Given the description of an element on the screen output the (x, y) to click on. 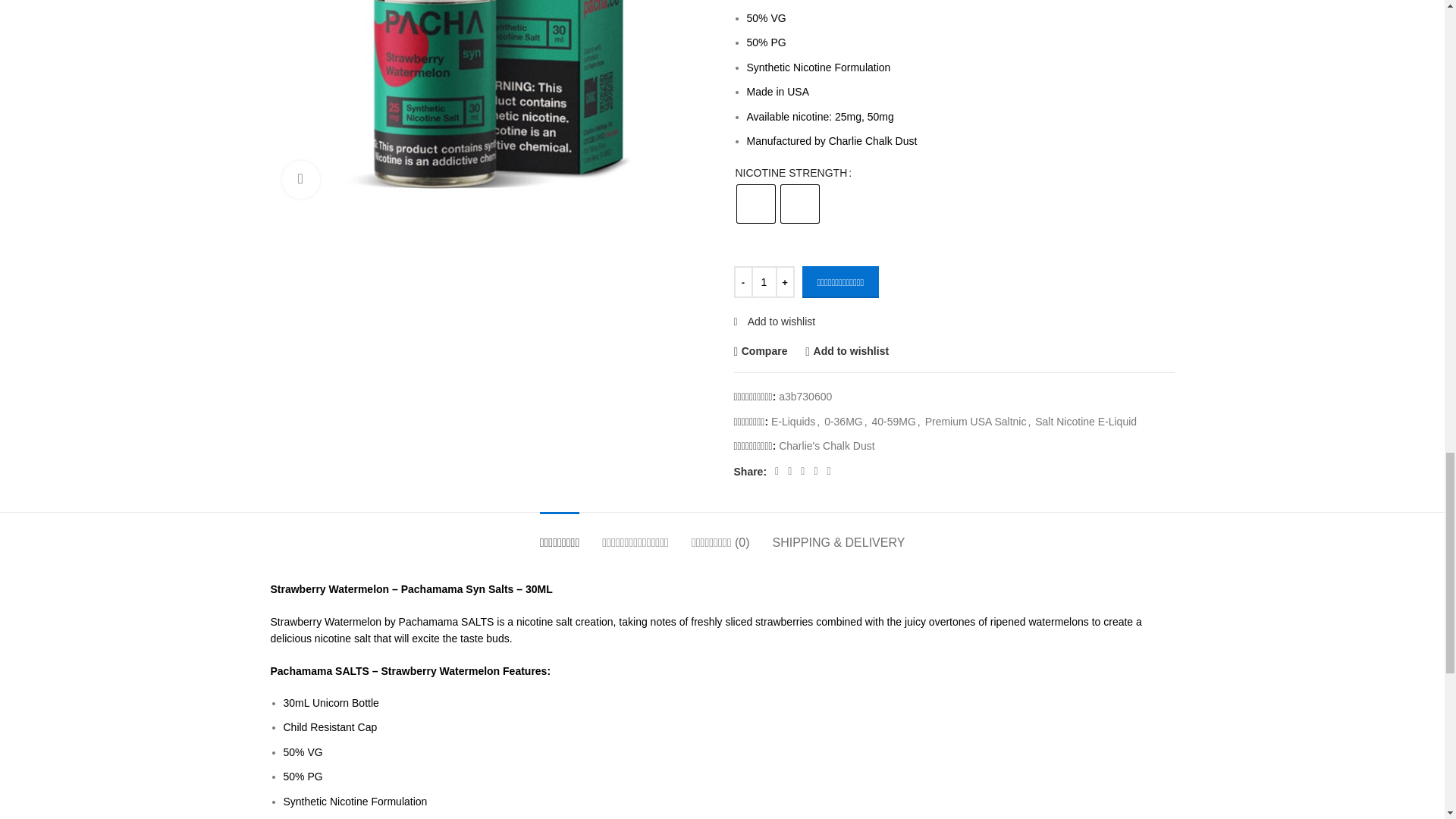
Pachamama-synthetic-salt-30ml-Strawberry-Watermelon (489, 104)
50MG (799, 203)
25MG (755, 203)
